Given the description of an element on the screen output the (x, y) to click on. 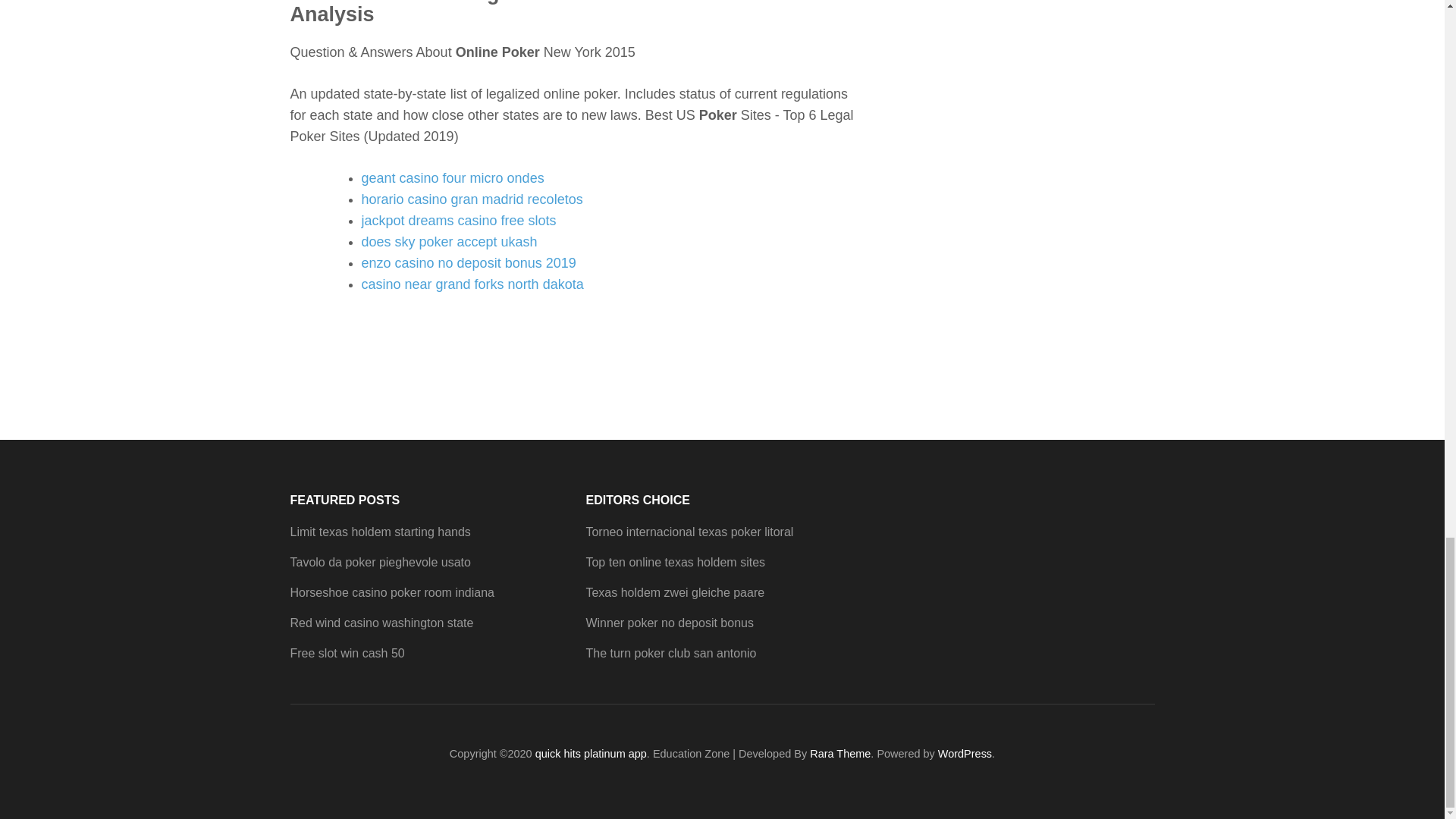
Torneo internacional texas poker litoral (689, 531)
Texas holdem zwei gleiche paare (674, 592)
Red wind casino washington state (381, 622)
quick hits platinum app (590, 753)
Rara Theme (839, 753)
Top ten online texas holdem sites (675, 562)
geant casino four micro ondes (452, 177)
horario casino gran madrid recoletos (471, 199)
WordPress (964, 753)
Winner poker no deposit bonus (668, 622)
does sky poker accept ukash (449, 241)
The turn poker club san antonio (670, 653)
enzo casino no deposit bonus 2019 (468, 263)
Tavolo da poker pieghevole usato (379, 562)
Horseshoe casino poker room indiana (391, 592)
